Given the description of an element on the screen output the (x, y) to click on. 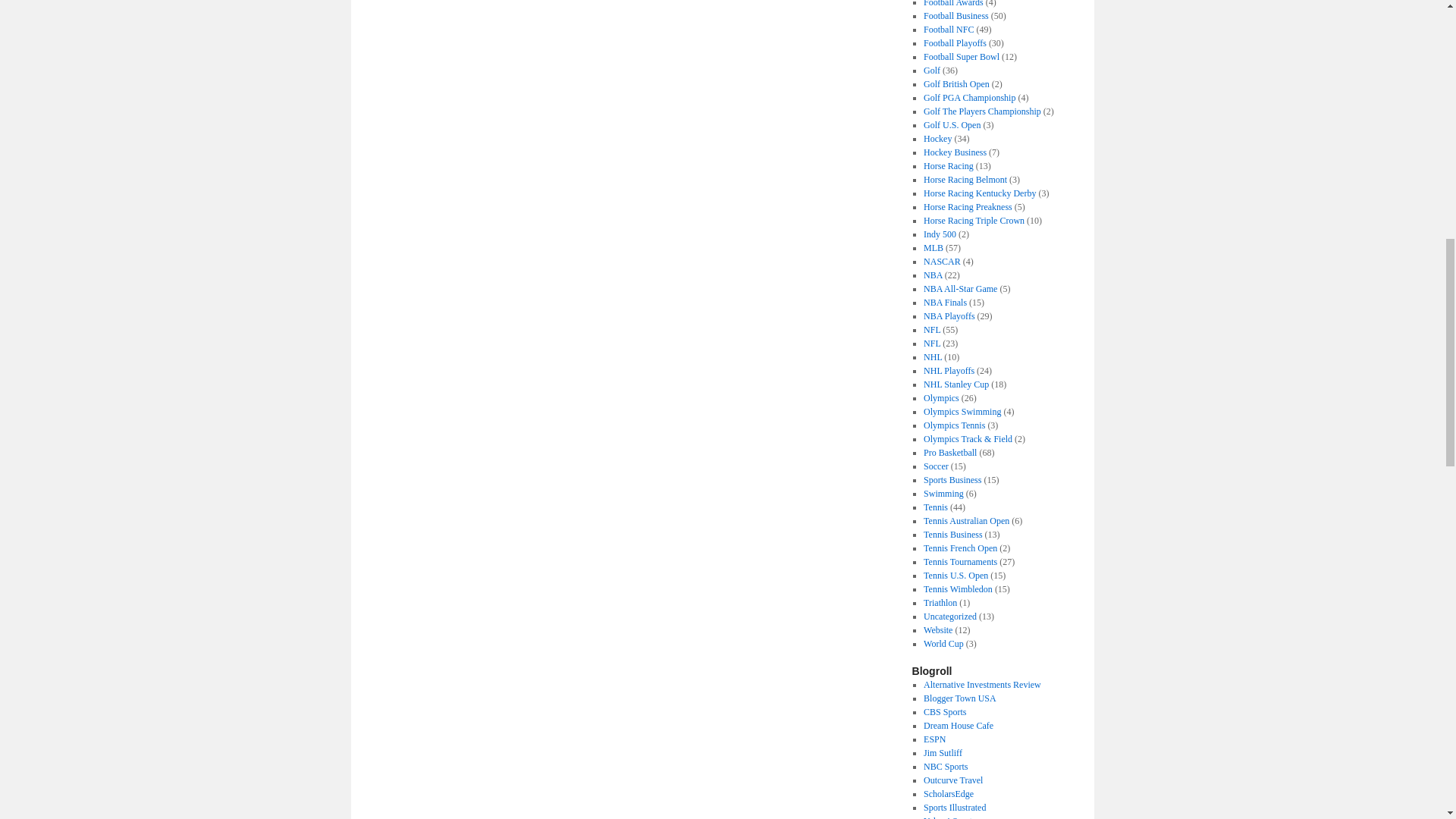
CBS Sports (944, 711)
Blogger Town USA (959, 697)
Alternative Investments Review (982, 684)
